Given the description of an element on the screen output the (x, y) to click on. 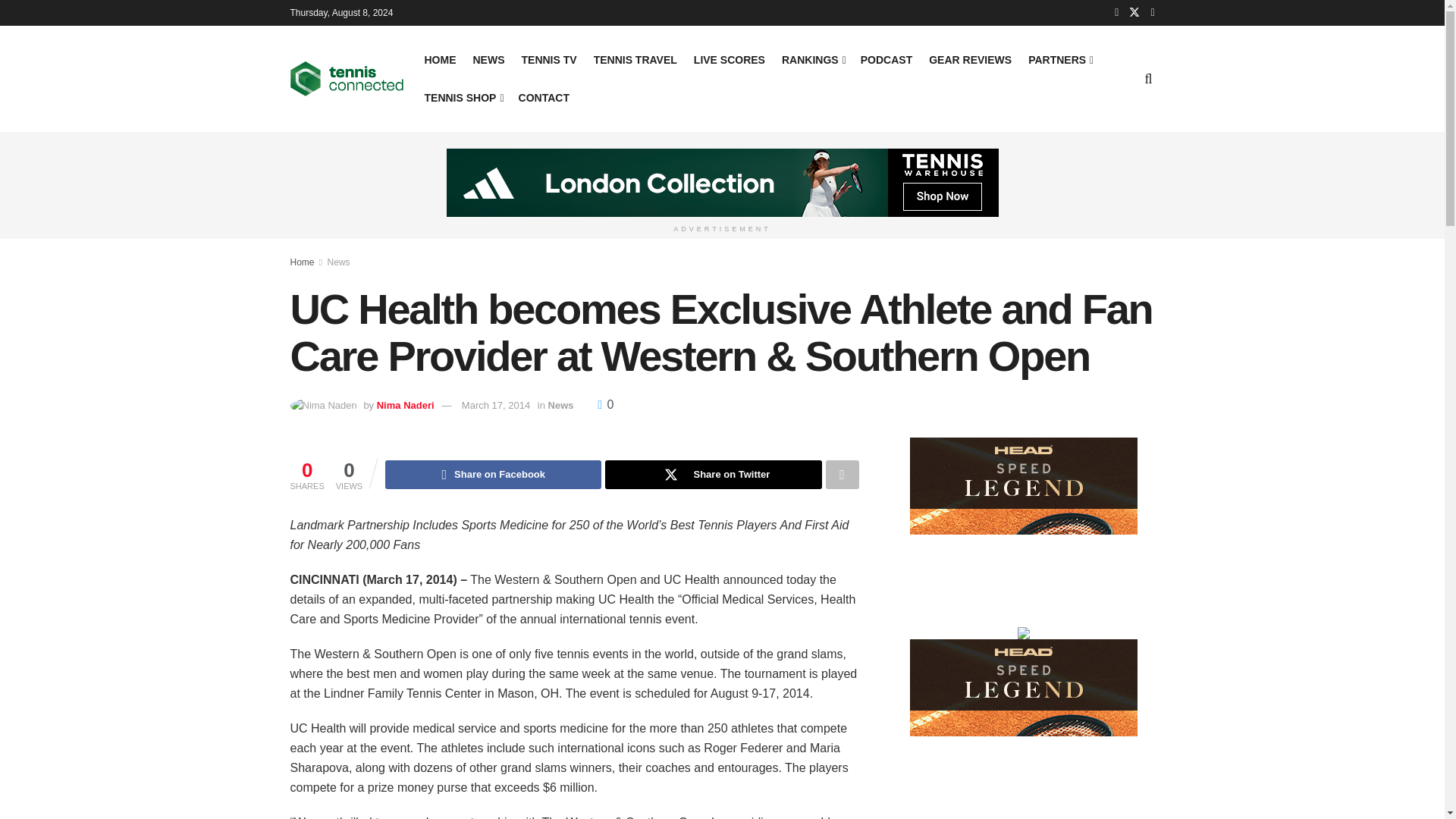
RANKINGS (812, 59)
CONTACT (543, 97)
TENNIS TV (548, 59)
NEWS (489, 59)
TENNIS SHOP (463, 97)
PODCAST (886, 59)
TENNIS TRAVEL (635, 59)
LIVE SCORES (729, 59)
PARTNERS (1058, 59)
GEAR REVIEWS (969, 59)
HOME (441, 59)
